Given the description of an element on the screen output the (x, y) to click on. 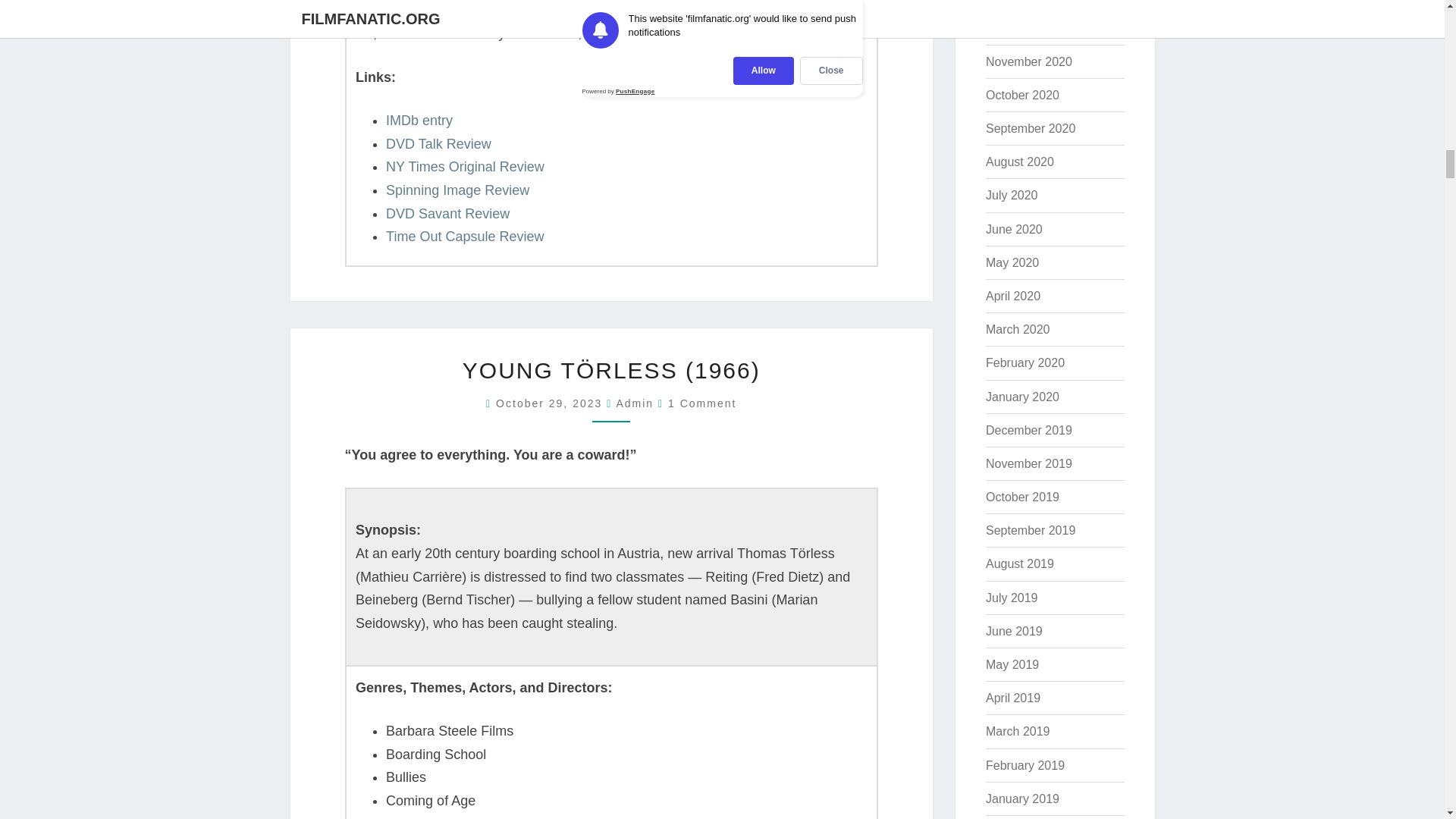
12:30 am (551, 403)
IMDb entry (418, 120)
Spinning Image Review (457, 190)
NY Times Original Review (464, 166)
View all posts by admin (634, 403)
DVD Savant Review (447, 213)
DVD Talk Review (438, 143)
